Given the description of an element on the screen output the (x, y) to click on. 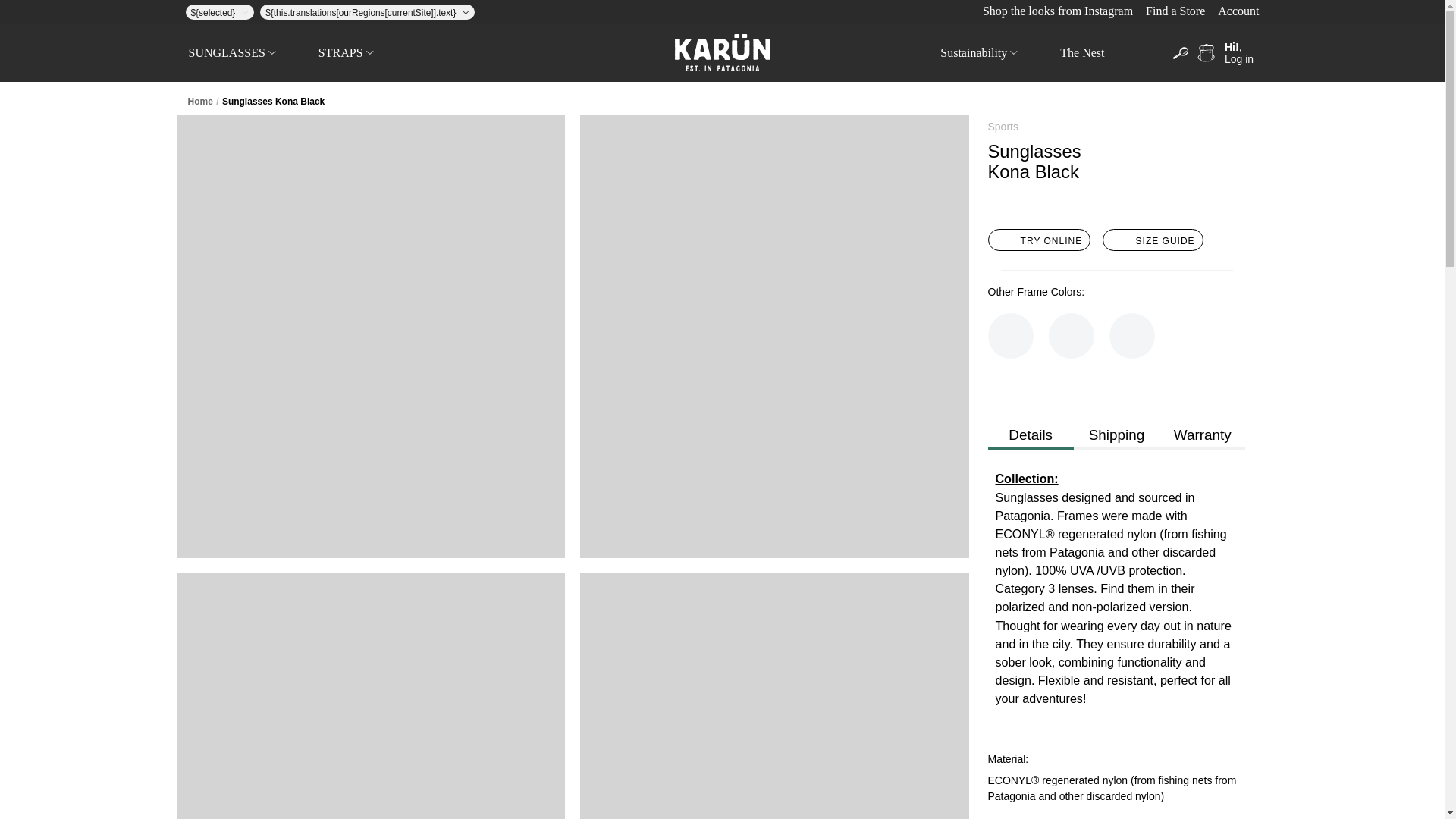
Karun Logo (722, 52)
Login (1238, 52)
Home (199, 101)
